Given the description of an element on the screen output the (x, y) to click on. 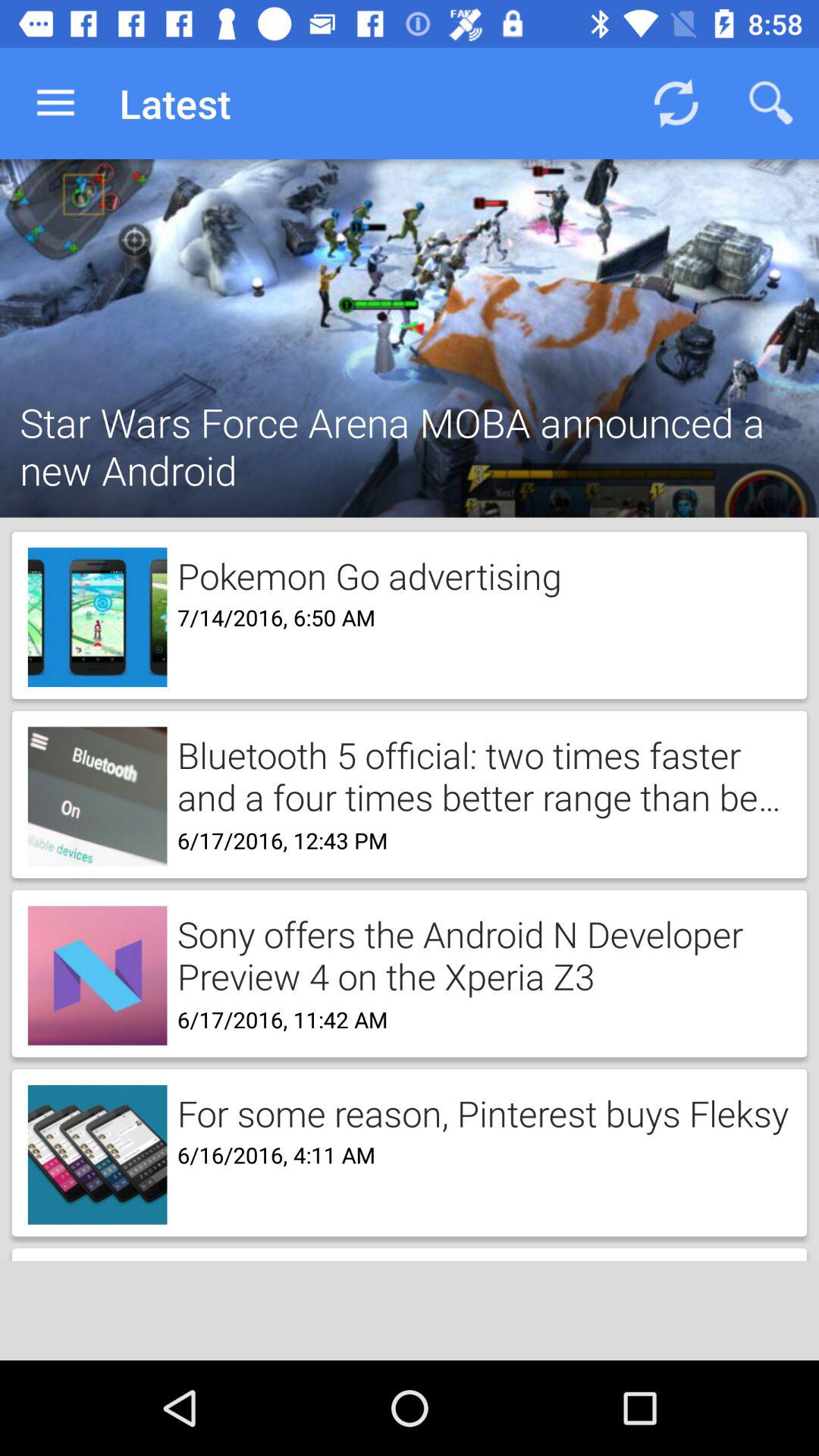
launch the star wars force (409, 426)
